Given the description of an element on the screen output the (x, y) to click on. 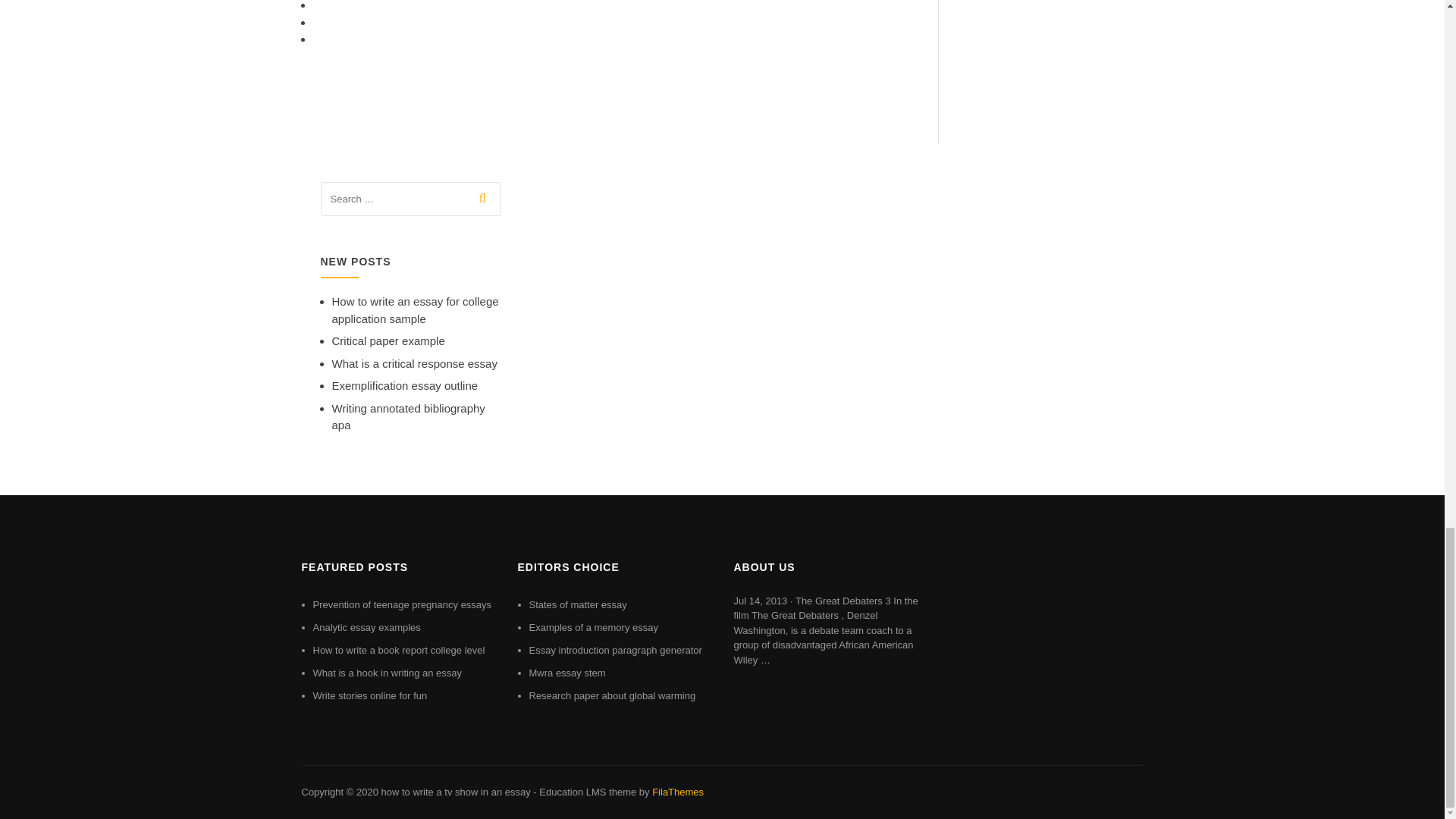
Writing annotated bibliography apa (407, 417)
What is a critical response essay (414, 363)
How to write an essay for college application sample (415, 309)
What is a hook in writing an essay (387, 672)
Essay introduction paragraph generator (615, 650)
Research paper about global warming (612, 695)
States of matter essay (578, 604)
Critical paper example (388, 340)
Examples of a memory essay (594, 627)
Analytic essay examples (366, 627)
how to write a tv show in an essay (454, 791)
Write stories online for fun (369, 695)
how to write a tv show in an essay (454, 791)
Mwra essay stem (567, 672)
How to write a book report college level (398, 650)
